Given the description of an element on the screen output the (x, y) to click on. 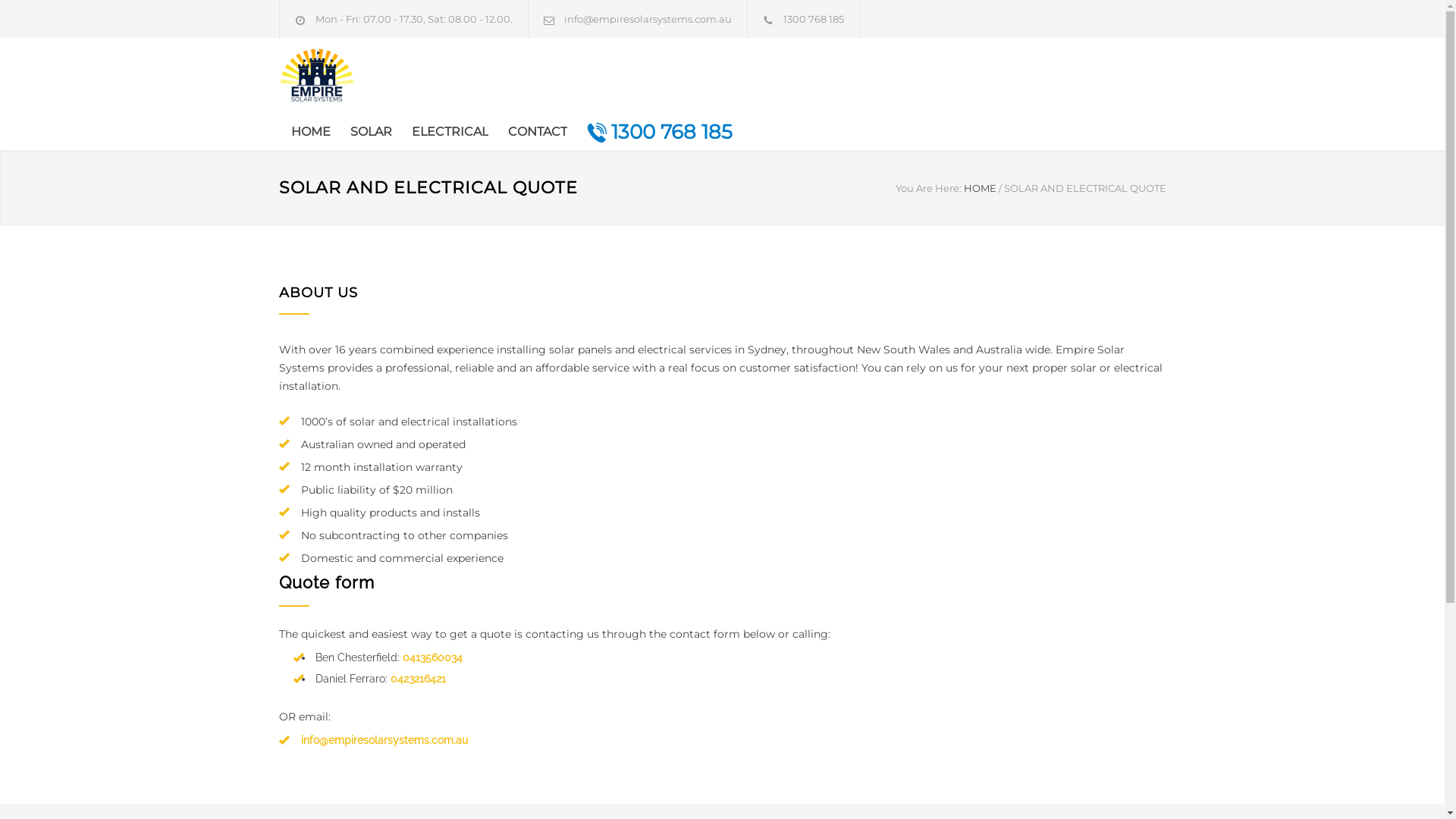
0413560034 Element type: text (431, 657)
1300 768 185 Element type: text (649, 131)
info@empiresolarsystems.com.au Element type: text (647, 18)
1300 768 185 Element type: text (812, 18)
HOME Element type: text (979, 188)
ELECTRICAL Element type: text (439, 131)
CONTACT Element type: text (527, 131)
SOLAR Element type: text (361, 131)
HOME Element type: text (310, 131)
0423216421 Element type: text (417, 678)
info@empiresolarsystems.com.au Element type: text (383, 740)
Empire Solar Systems Element type: hover (316, 75)
